Given the description of an element on the screen output the (x, y) to click on. 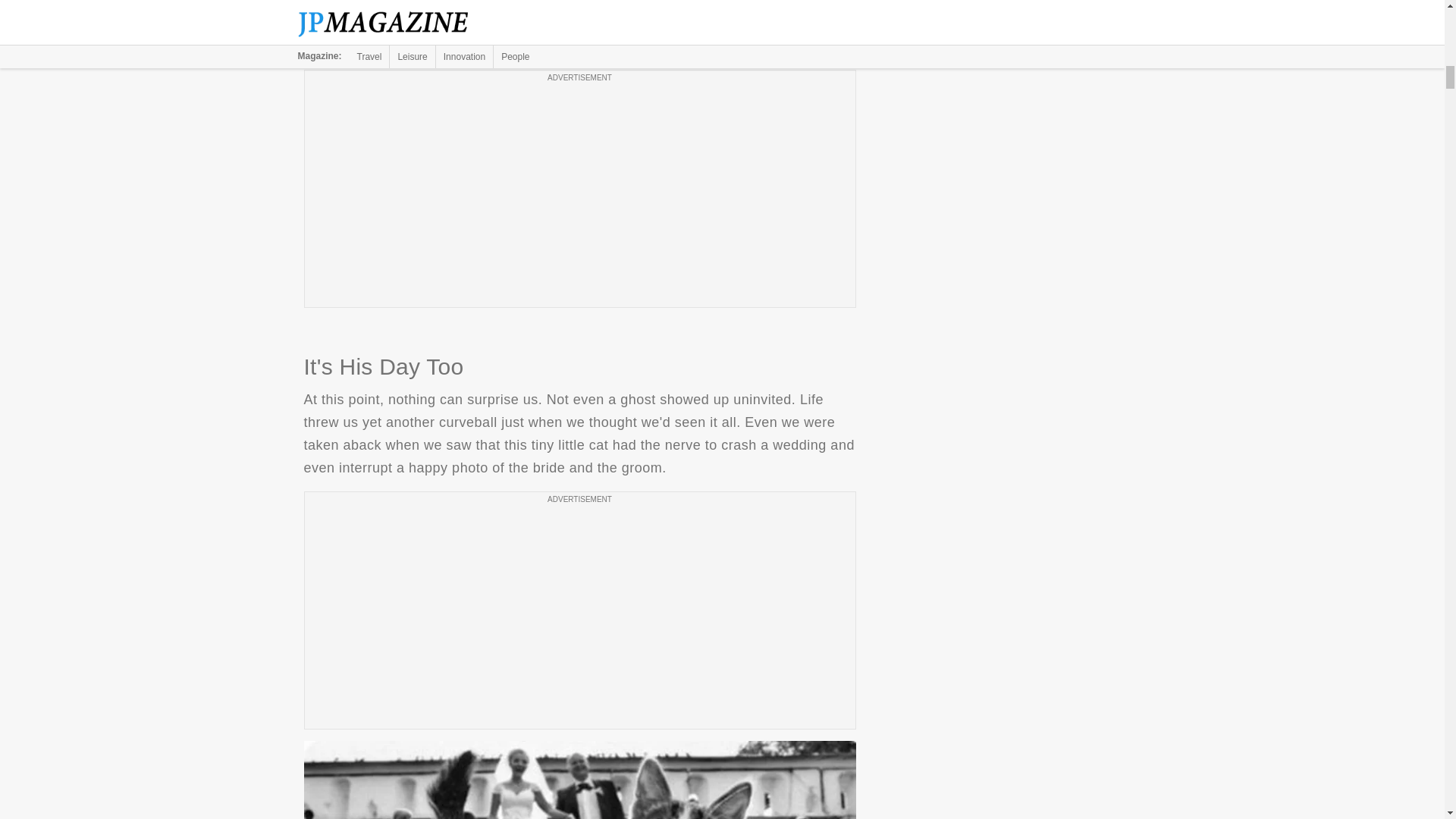
It's His Day Too (579, 780)
